Given the description of an element on the screen output the (x, y) to click on. 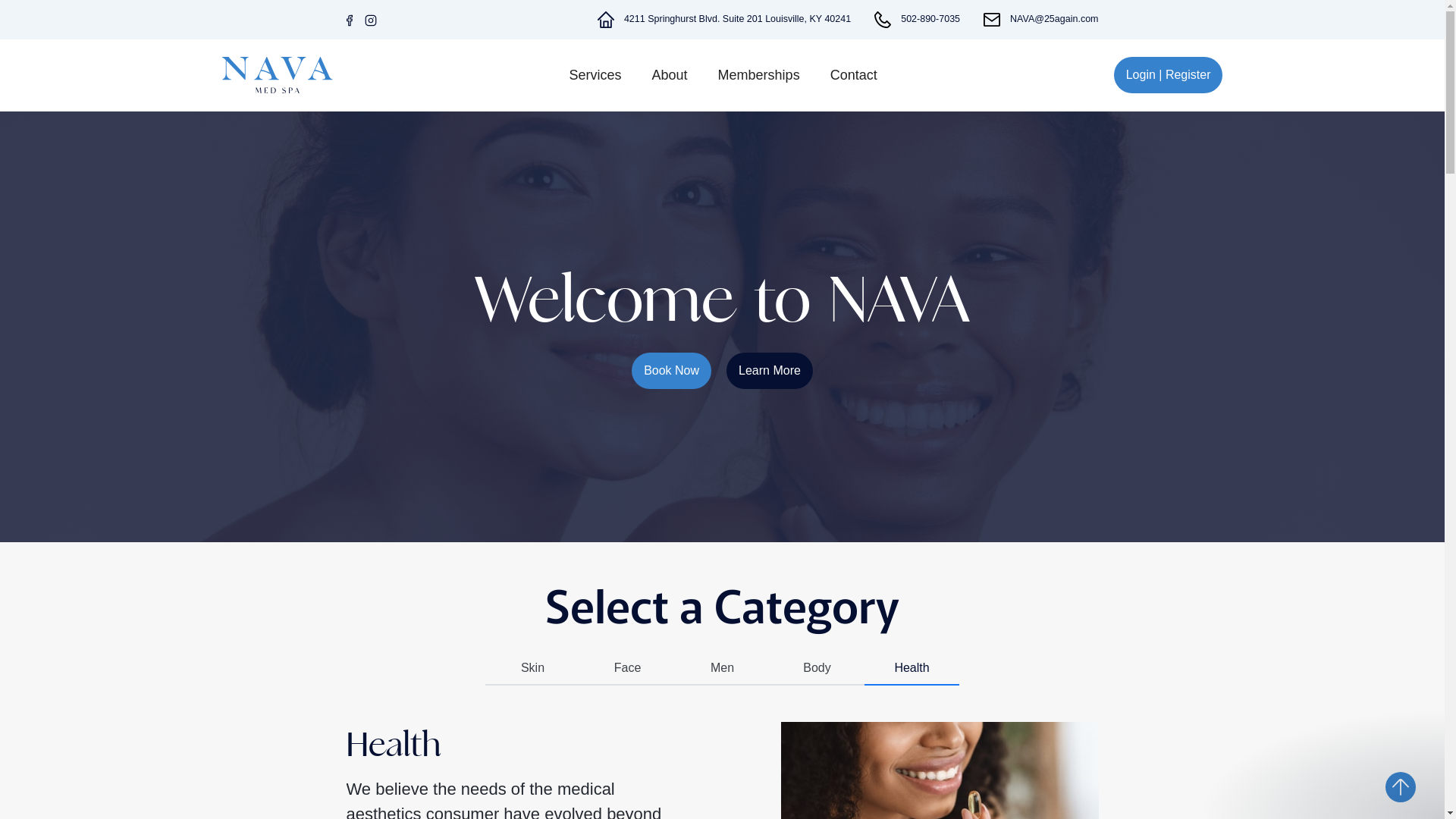
Memberships Element type: text (800, 75)
Services Element type: text (637, 75)
Men Element type: text (721, 668)
Body Element type: text (816, 668)
NAVA@25again.com Element type: text (1054, 19)
502-890-7035 Element type: text (930, 19)
Health Element type: text (911, 668)
About Element type: text (711, 75)
Face Element type: text (627, 668)
4211 Springhurst Blvd. Suite 201 Louisville, KY 40241 Element type: text (737, 19)
Book Now Element type: text (671, 369)
Learn More Element type: text (769, 369)
Skin Element type: text (532, 668)
Contact Element type: text (896, 75)
